Given the description of an element on the screen output the (x, y) to click on. 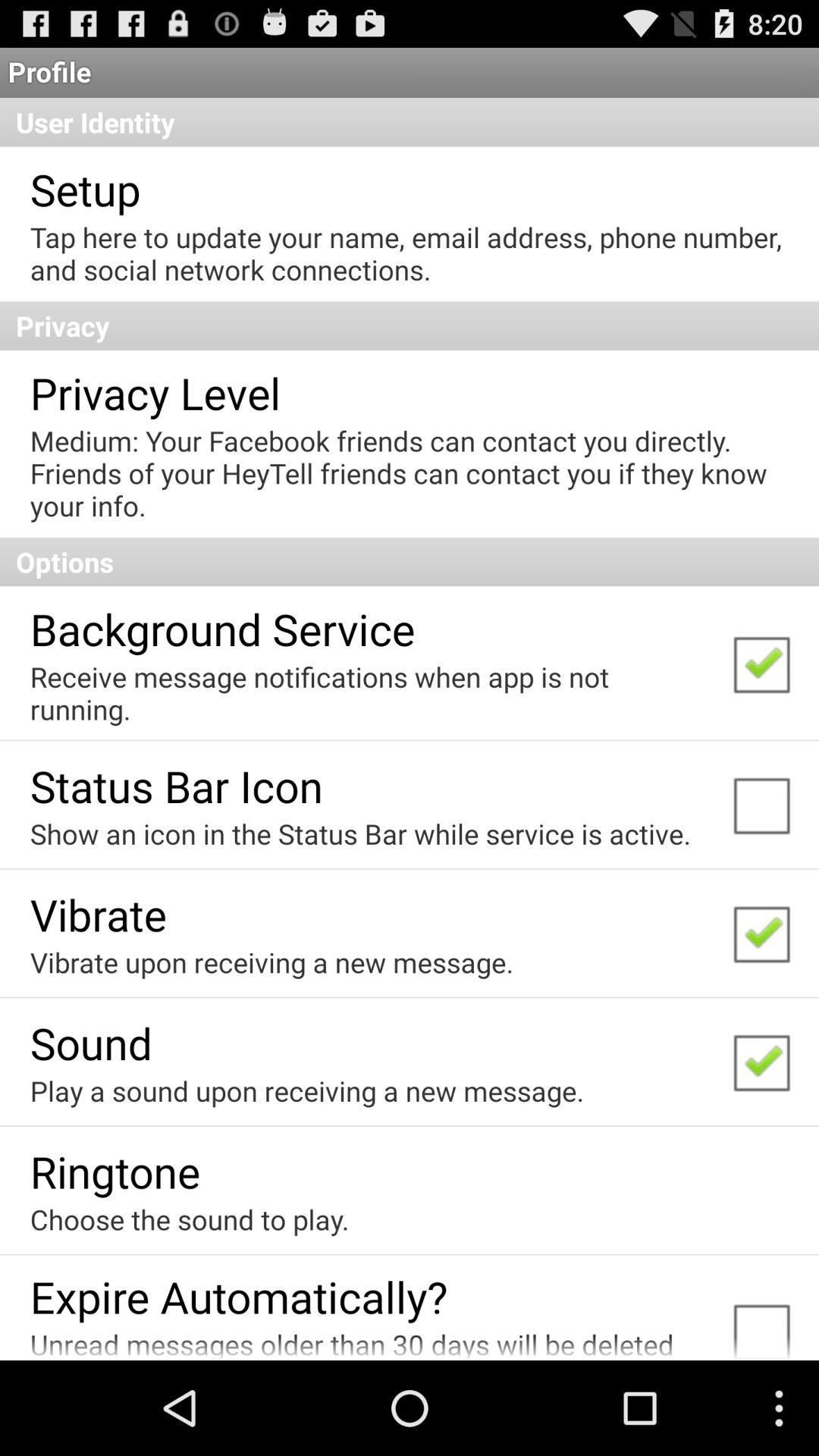
tap the icon above vibrate item (360, 833)
